Given the description of an element on the screen output the (x, y) to click on. 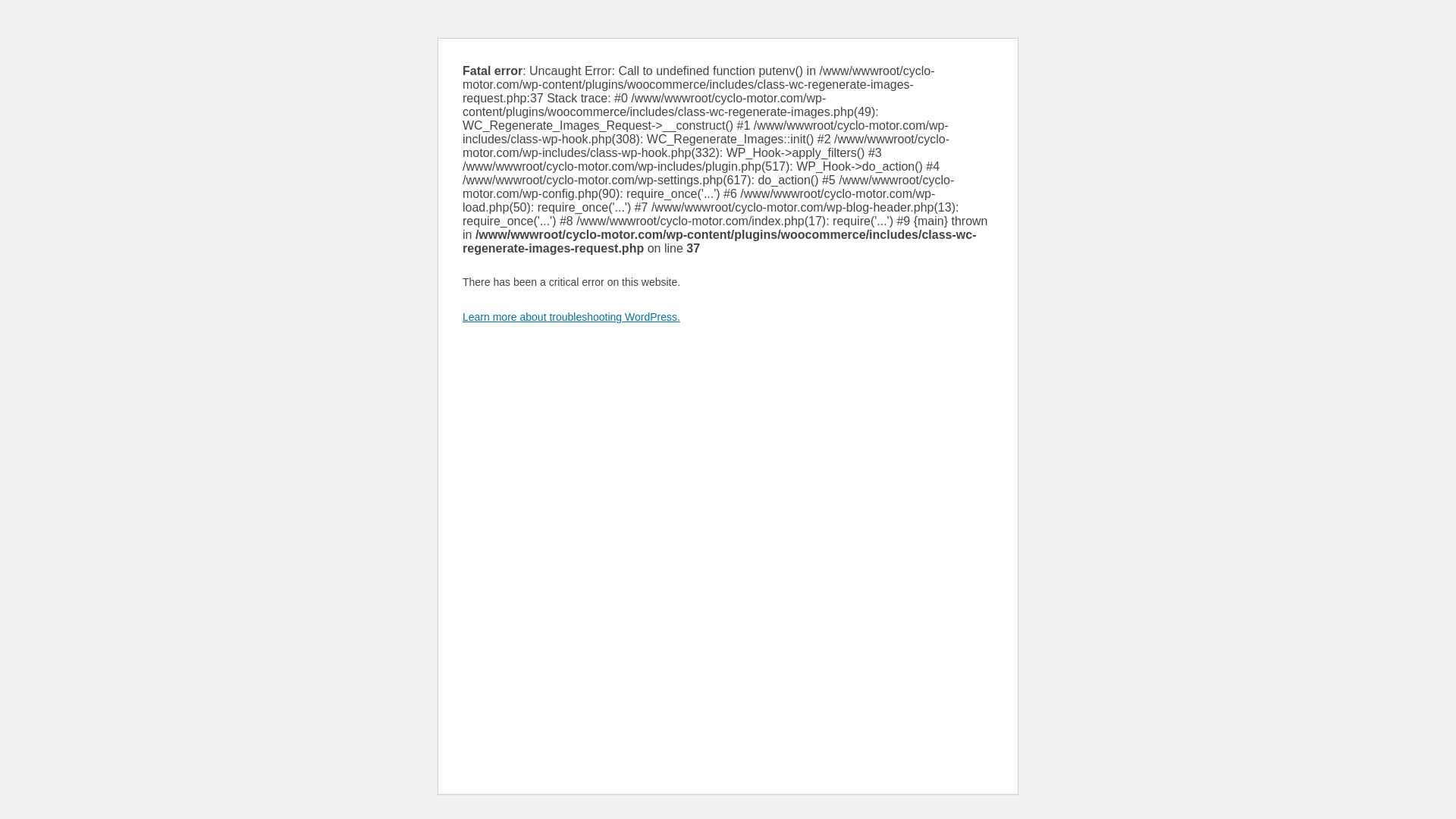
Learn more about troubleshooting WordPress. (571, 316)
